Given the description of an element on the screen output the (x, y) to click on. 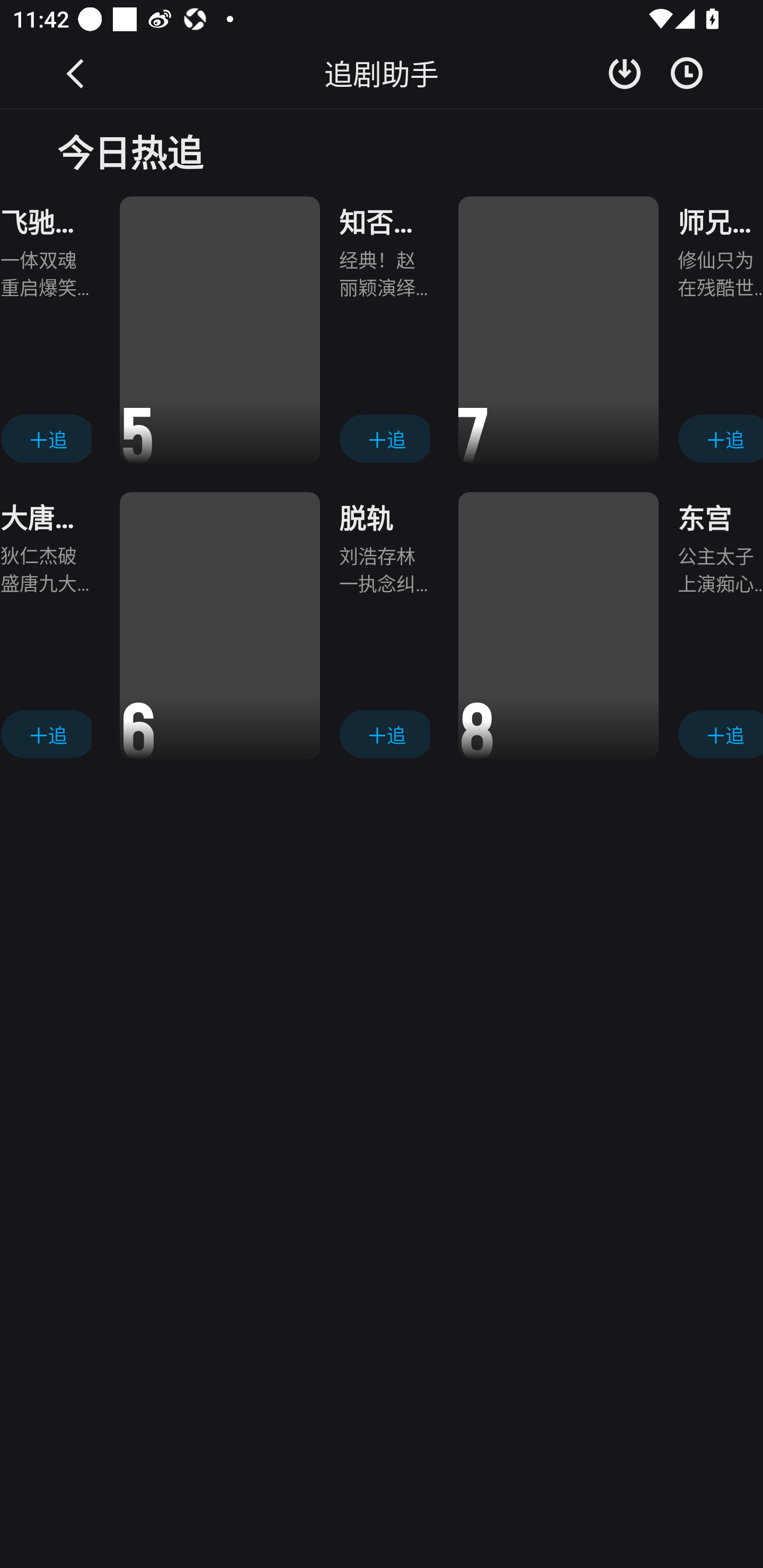
追剧助手 (381, 72)
 返回 (76, 72)
下载 (624, 72)
历史 (686, 72)
今日热追 (381, 150)
追 (45, 438)
追 (383, 438)
追 (720, 438)
追 (45, 733)
追 (383, 733)
追 (720, 733)
